Given the description of an element on the screen output the (x, y) to click on. 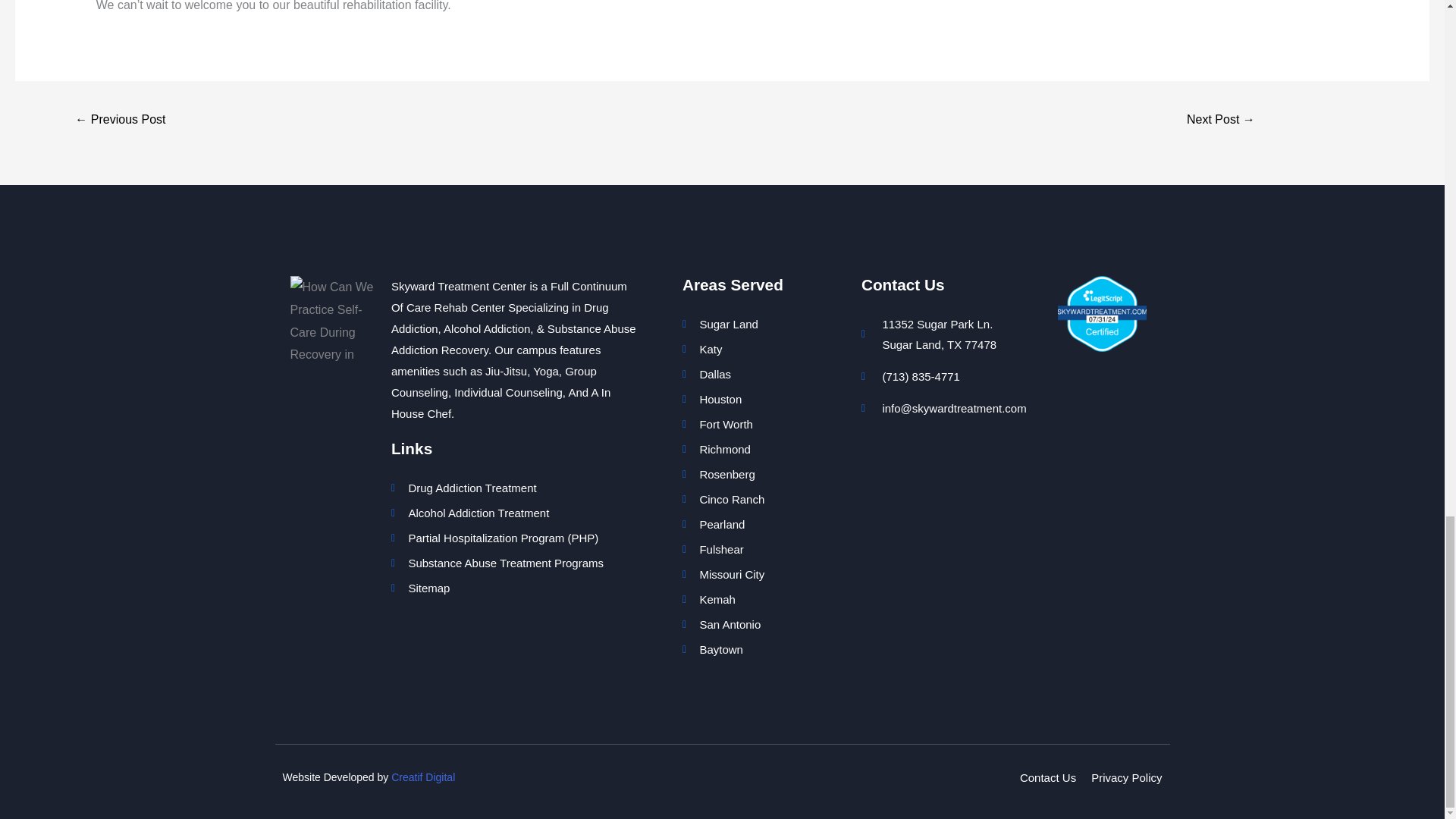
Verify LegitScript Approval (1102, 313)
Common Facts About Heroin Addiction in Sugar Land, Texas (119, 121)
